Given the description of an element on the screen output the (x, y) to click on. 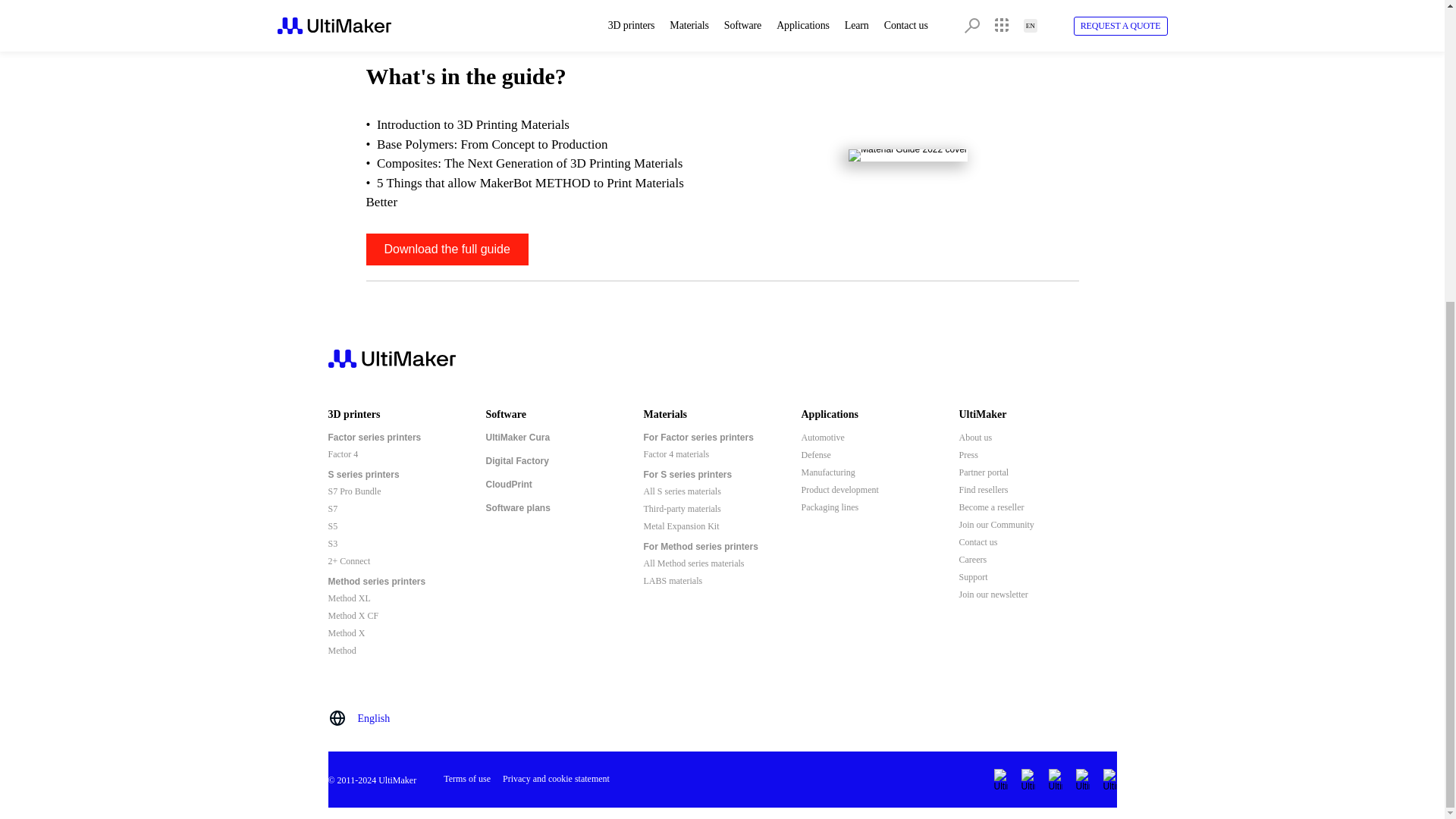
Material Guide 2022 cover (908, 155)
